Given the description of an element on the screen output the (x, y) to click on. 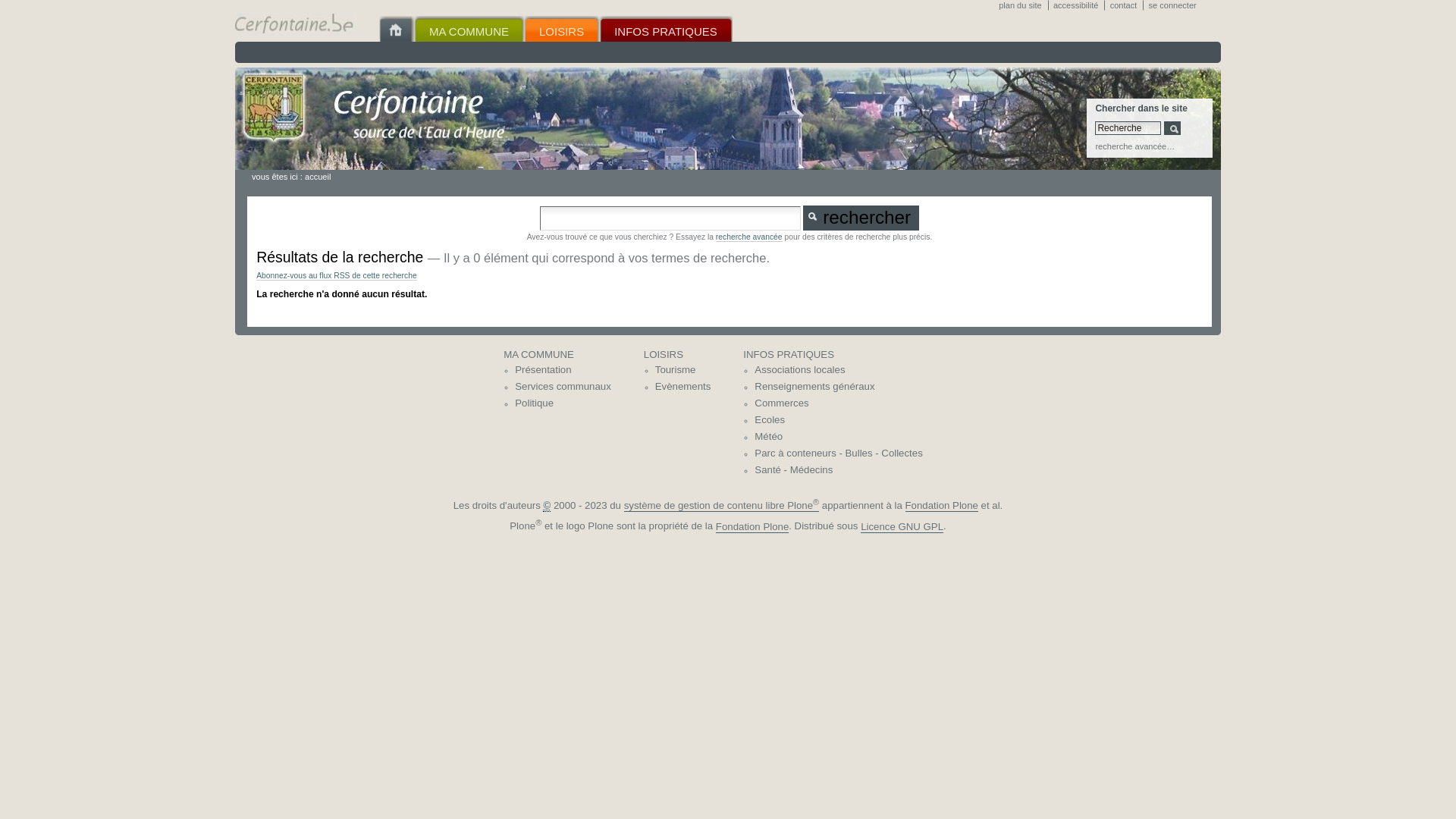
LOISIRS Element type: text (677, 354)
Rechercher Element type: text (861, 217)
se connecter Element type: text (1175, 5)
Tourisme Element type: text (683, 370)
Associations locales Element type: text (838, 370)
Commerces Element type: text (838, 403)
MA COMMUNE Element type: text (557, 354)
Fondation Plone Element type: text (941, 505)
MA COMMUNE Element type: text (469, 28)
Abonnez-vous au flux RSS de cette recherche Element type: text (336, 275)
Services communaux Element type: text (562, 386)
INFOS PRATIQUES Element type: text (665, 28)
Fondation Plone Element type: text (751, 526)
LOISIRS Element type: text (561, 28)
Politique Element type: text (562, 403)
Recherche Element type: hover (1128, 127)
Licence GNU GPL Element type: text (901, 526)
accueil Element type: text (317, 176)
plan du site Element type: text (1022, 5)
Chercher dans le site Element type: hover (669, 218)
contact Element type: text (1126, 5)
INFOS PRATIQUES Element type: text (832, 354)
Ecoles Element type: text (838, 420)
